Given the description of an element on the screen output the (x, y) to click on. 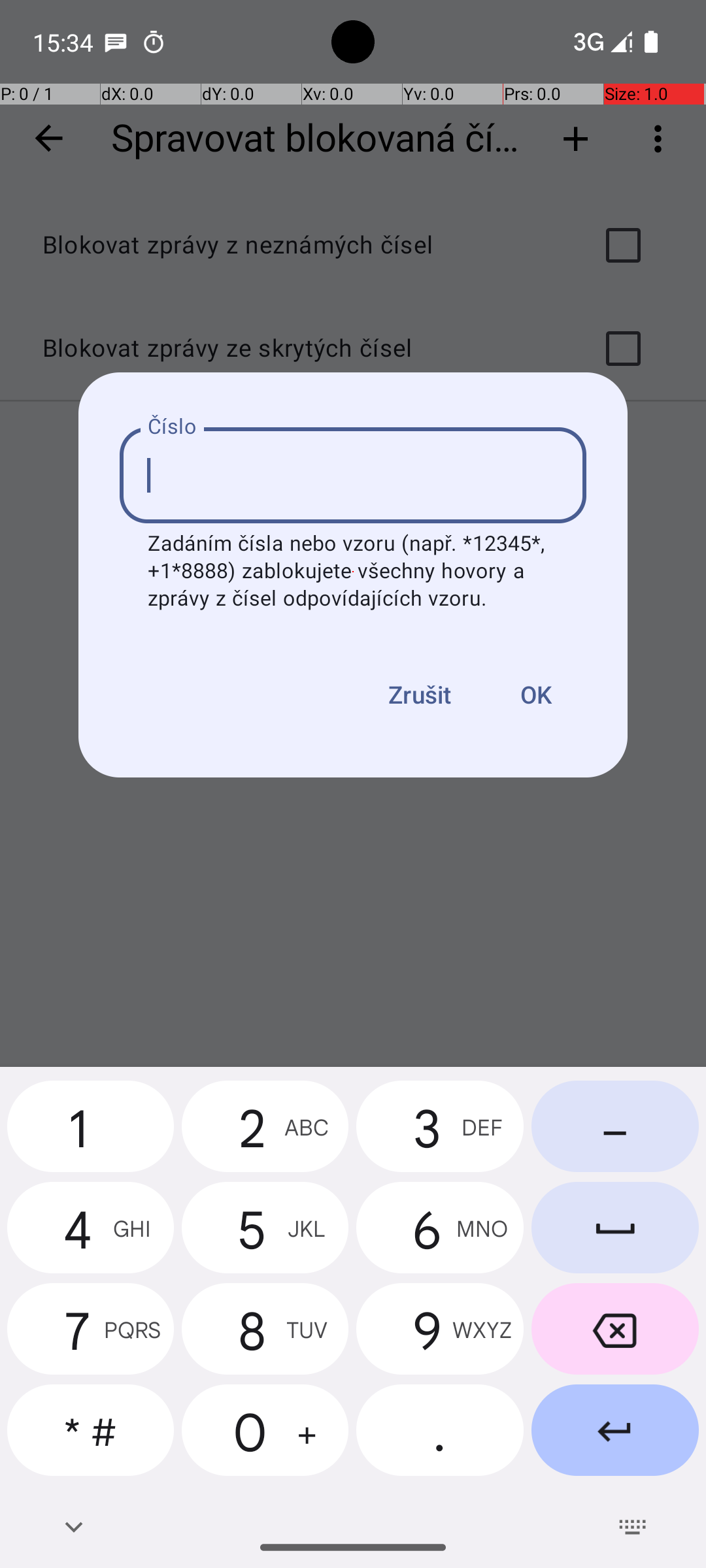
Číslo Element type: android.widget.TextView (172, 427)
Zadáním čísla nebo vzoru (např. *12345*, +1*8888) zablokujete všechny hovory a zprávy z čísel odpovídajících vzoru. Element type: android.widget.TextView (352, 571)
